Given the description of an element on the screen output the (x, y) to click on. 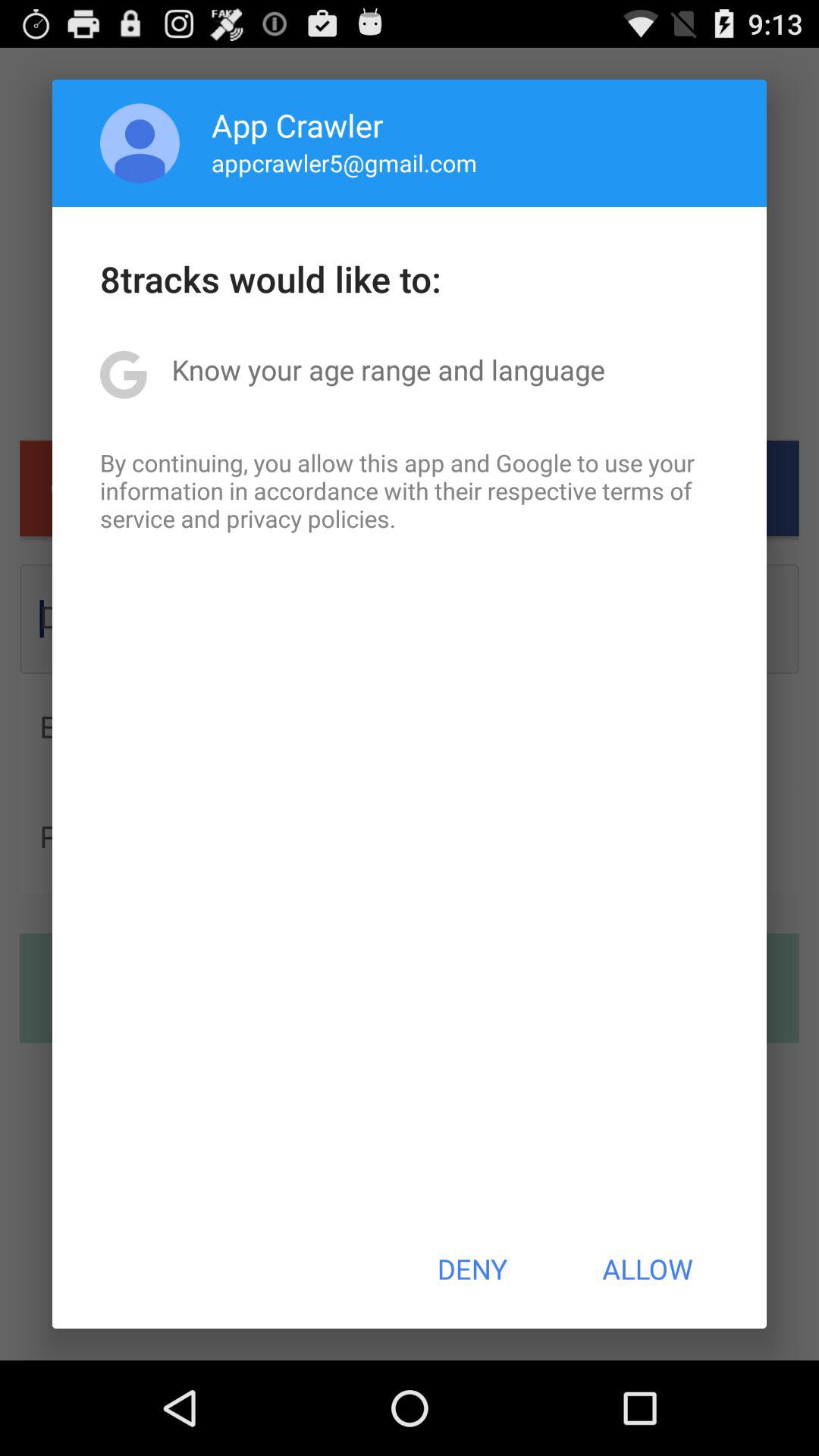
swipe until appcrawler5@gmail.com app (344, 162)
